Given the description of an element on the screen output the (x, y) to click on. 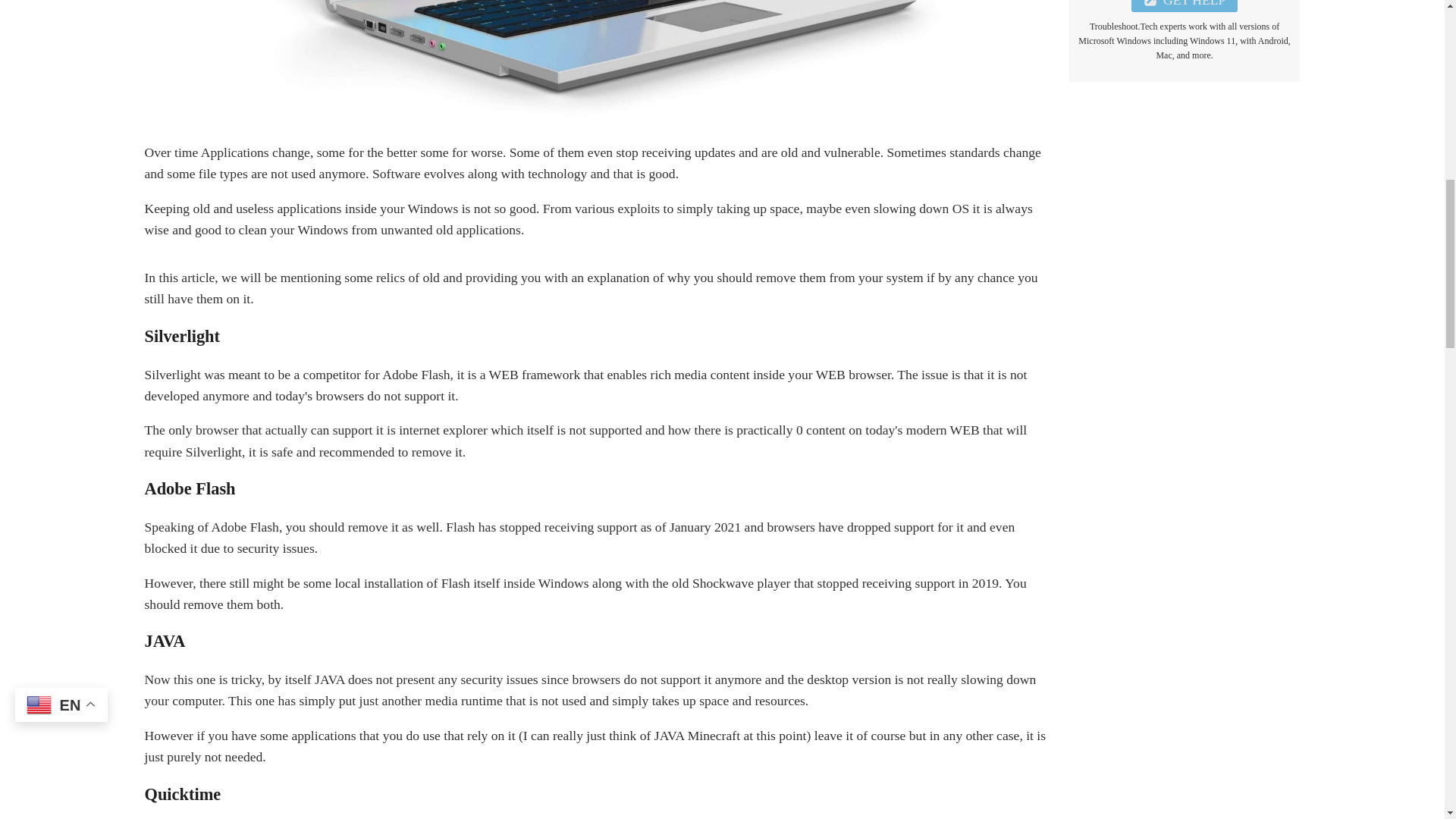
GET HELP (1184, 6)
Applications - ErrorTools (598, 67)
